Given the description of an element on the screen output the (x, y) to click on. 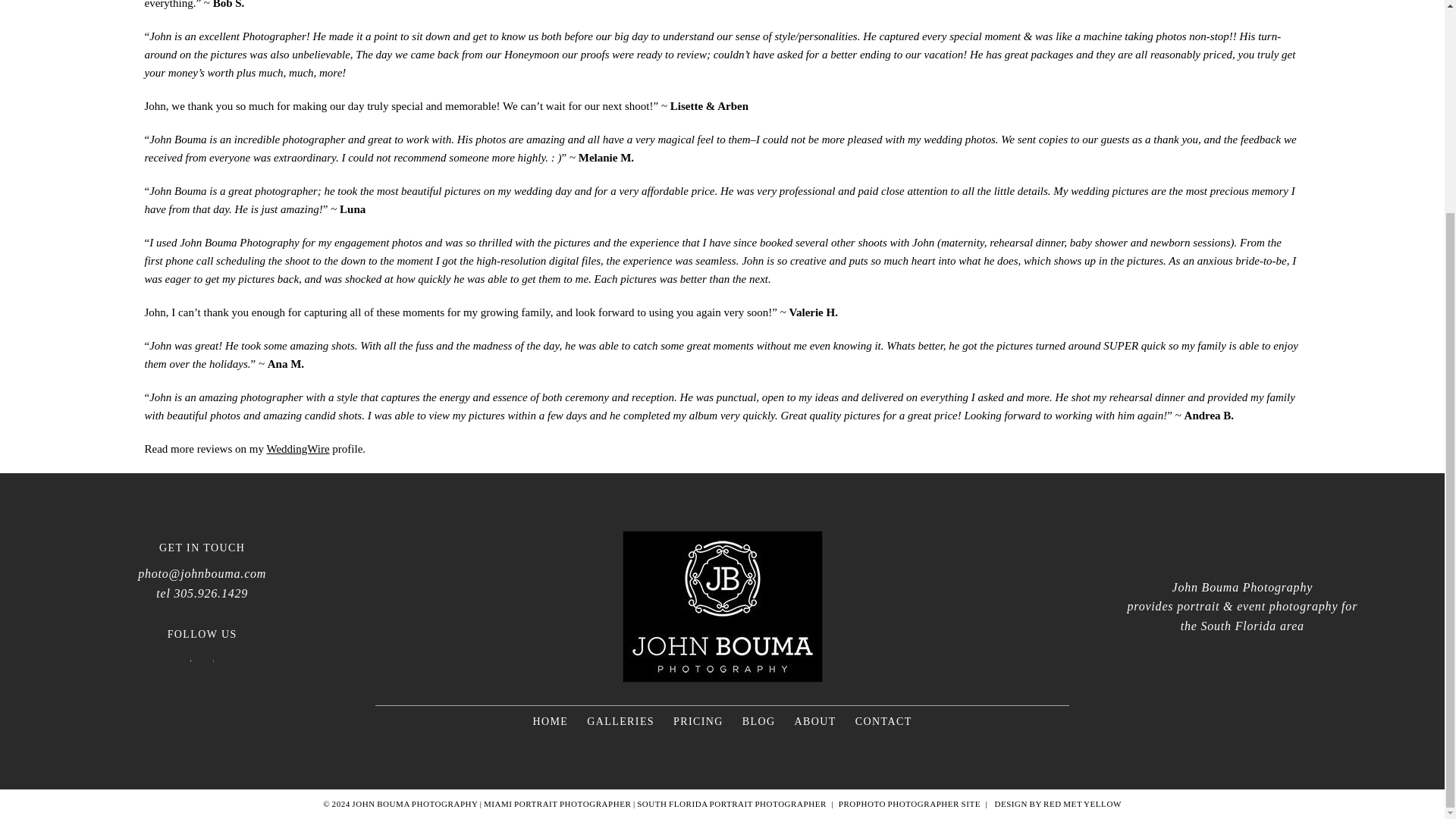
HOME (549, 721)
ProPhoto8 WordPress Theme (908, 803)
F (190, 661)
I (213, 661)
RED MET YELLOW (1082, 803)
PROPHOTO PHOTOGRAPHER SITE (908, 803)
BLOG (759, 721)
PRICING (697, 721)
WeddingWire (297, 449)
CONTACT (884, 721)
